Given the description of an element on the screen output the (x, y) to click on. 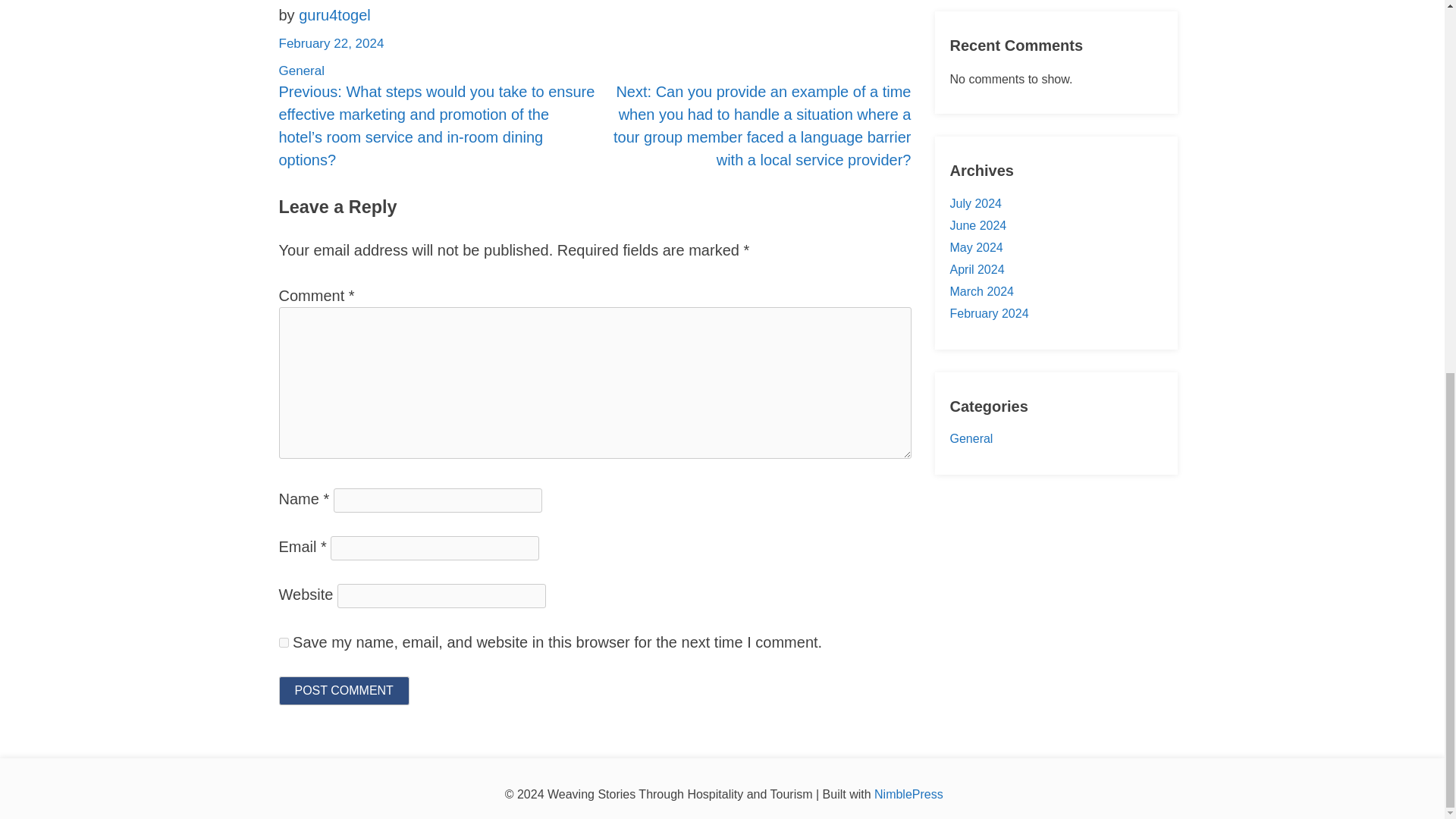
July 2024 (975, 203)
April 2024 (976, 269)
June 2024 (977, 225)
Post Comment (344, 690)
yes (283, 642)
General (970, 438)
NimblePress (909, 794)
General (301, 70)
Post Comment (344, 690)
